Given the description of an element on the screen output the (x, y) to click on. 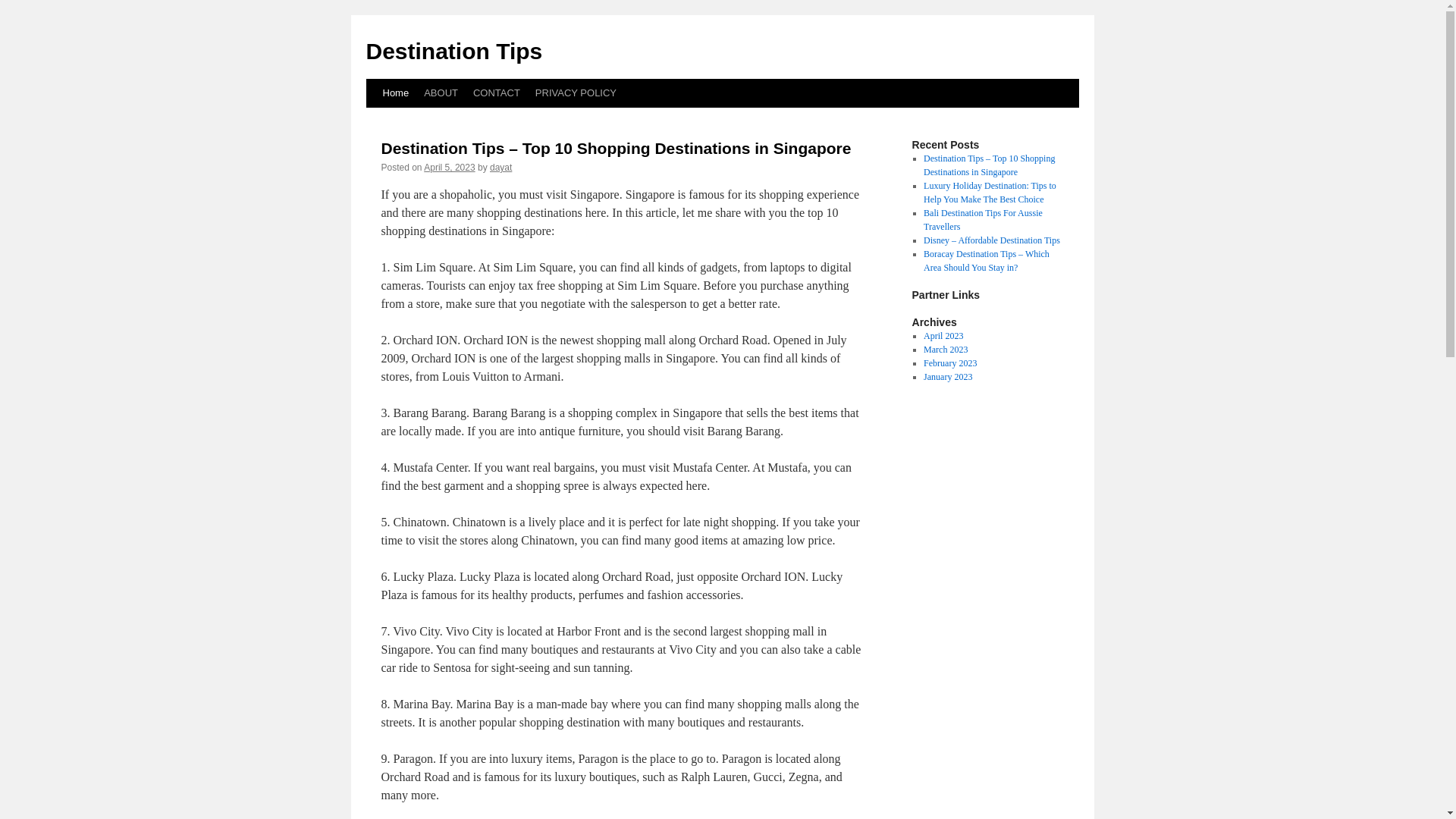
January 2023 (947, 376)
dayat (500, 167)
View all posts by dayat (500, 167)
PRIVACY POLICY (575, 92)
CONTACT (496, 92)
April 2023 (942, 335)
Home (395, 92)
ABOUT (440, 92)
Bali Destination Tips For Aussie Travellers (982, 219)
February 2023 (949, 362)
2:38 pm (448, 167)
Destination Tips (453, 50)
PRIVACY POLICY (575, 92)
Home (395, 92)
